Given the description of an element on the screen output the (x, y) to click on. 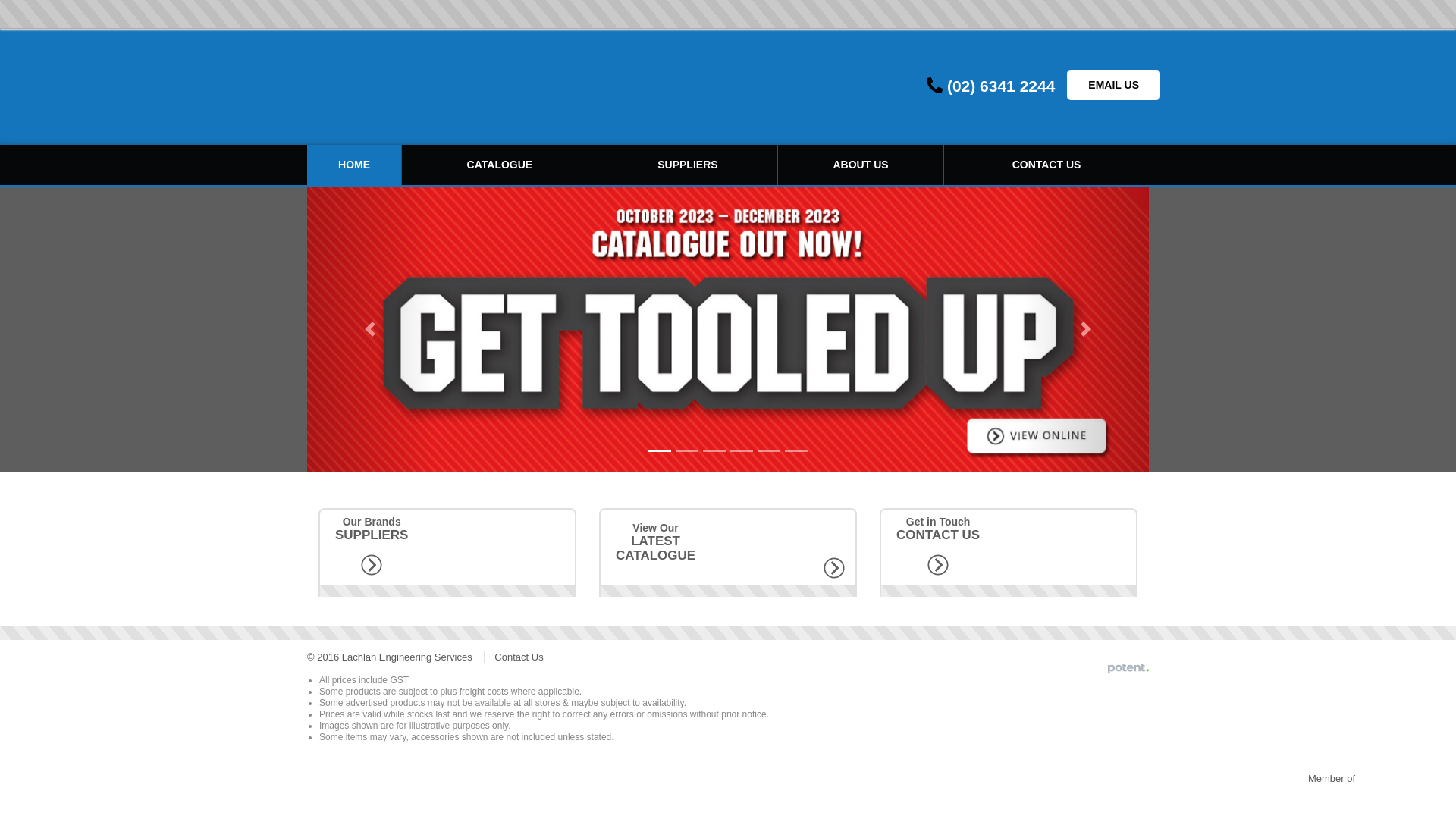
Tradesmart Industrial Group Element type: text (1328, 798)
Next Element type: text (1085, 328)
ABOUT US Element type: text (860, 164)
(02) 6341 2244 Element type: text (1000, 85)
View Our
LATEST
CATALOGUE Element type: text (727, 552)
Get in Touch
CONTACT US Element type: text (1008, 552)
EMAIL US Element type: text (1113, 84)
CATALOGUE Element type: text (499, 164)
Previous Element type: text (370, 328)
SUPPLIERS Element type: text (687, 164)
CONTACT US Element type: text (1046, 164)
Contact Us Element type: text (518, 656)
Lachlan Engineering Services Element type: text (440, 86)
HOME Element type: text (354, 164)
Our Brands
SUPPLIERS Element type: text (447, 552)
